Given the description of an element on the screen output the (x, y) to click on. 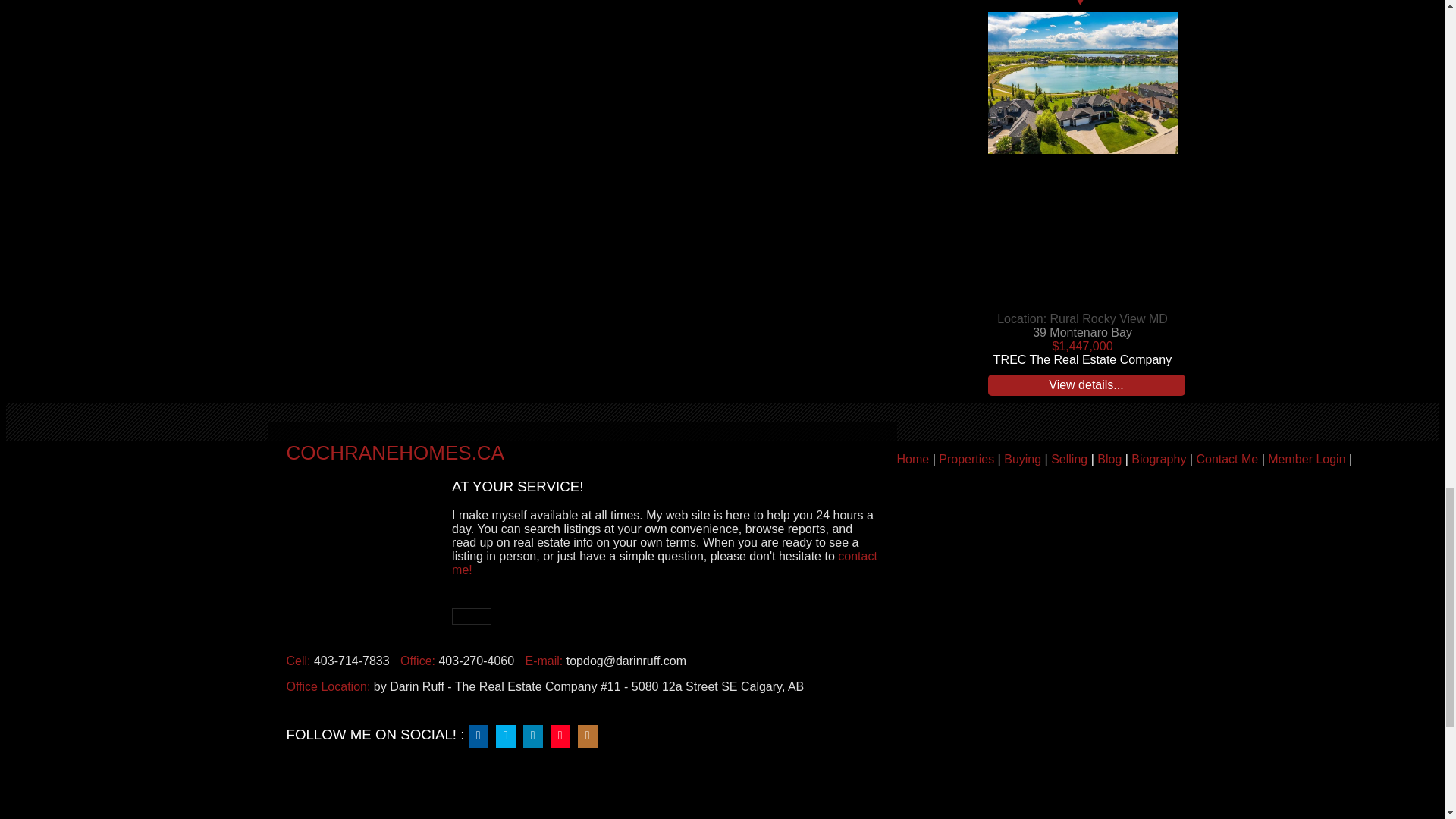
Properties (966, 459)
Member Login (1306, 459)
Blog (1109, 459)
Selling (1069, 459)
View details... (1086, 384)
Buying (1022, 459)
Contact Me (1226, 459)
Home (912, 459)
Biography (1158, 459)
